Given the description of an element on the screen output the (x, y) to click on. 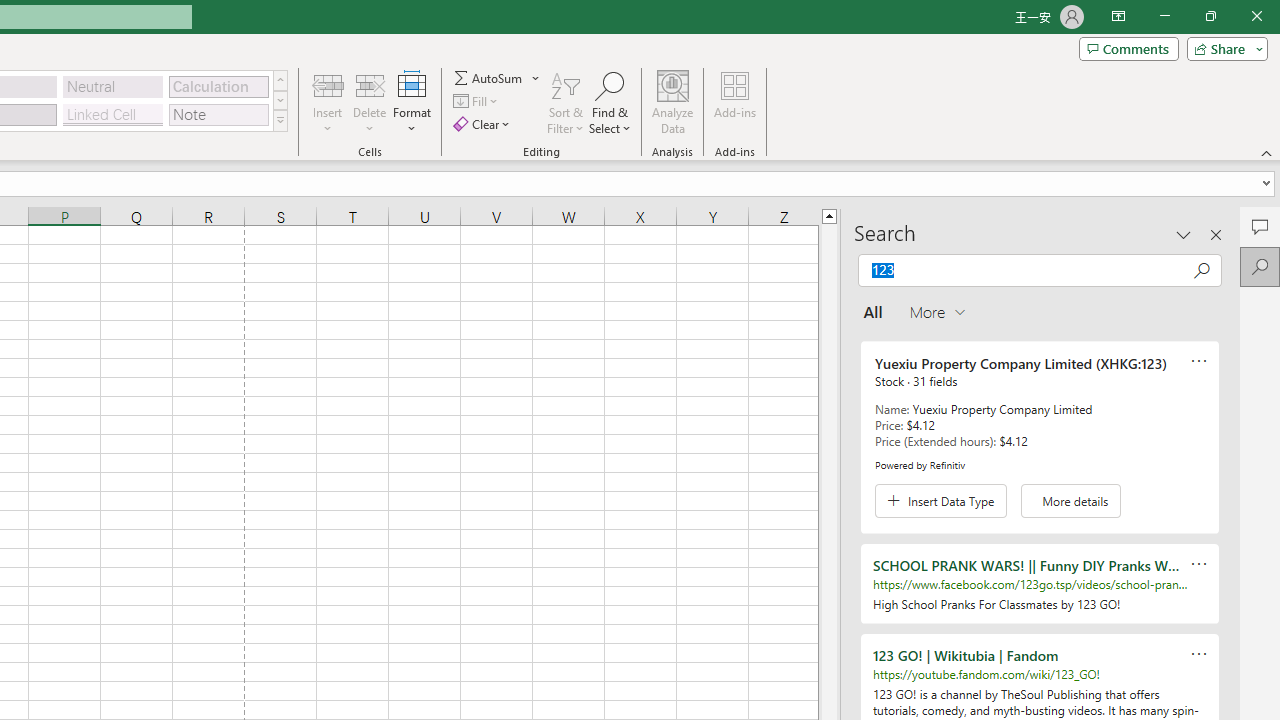
Format (411, 102)
Sum (489, 78)
Delete Cells... (369, 84)
Insert Cells (328, 84)
Neutral (113, 86)
Calculation (218, 86)
Linked Cell (113, 114)
